Given the description of an element on the screen output the (x, y) to click on. 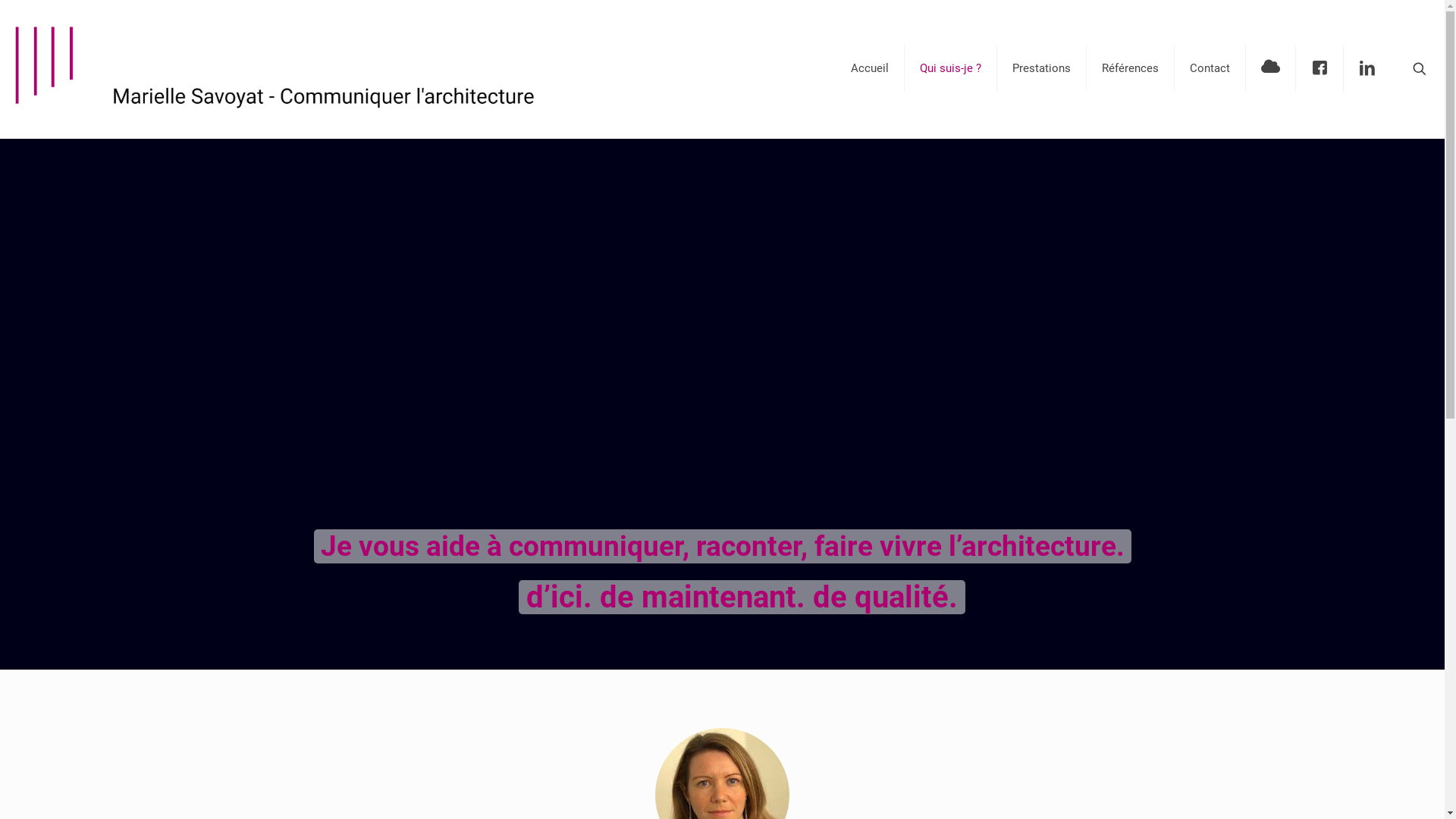
Accueil Element type: text (869, 68)
Prestations Element type: text (1041, 68)
Contact Element type: text (1209, 68)
Communiquer l'architecture Element type: hover (313, 68)
Qui suis-je ? Element type: text (950, 68)
